Given the description of an element on the screen output the (x, y) to click on. 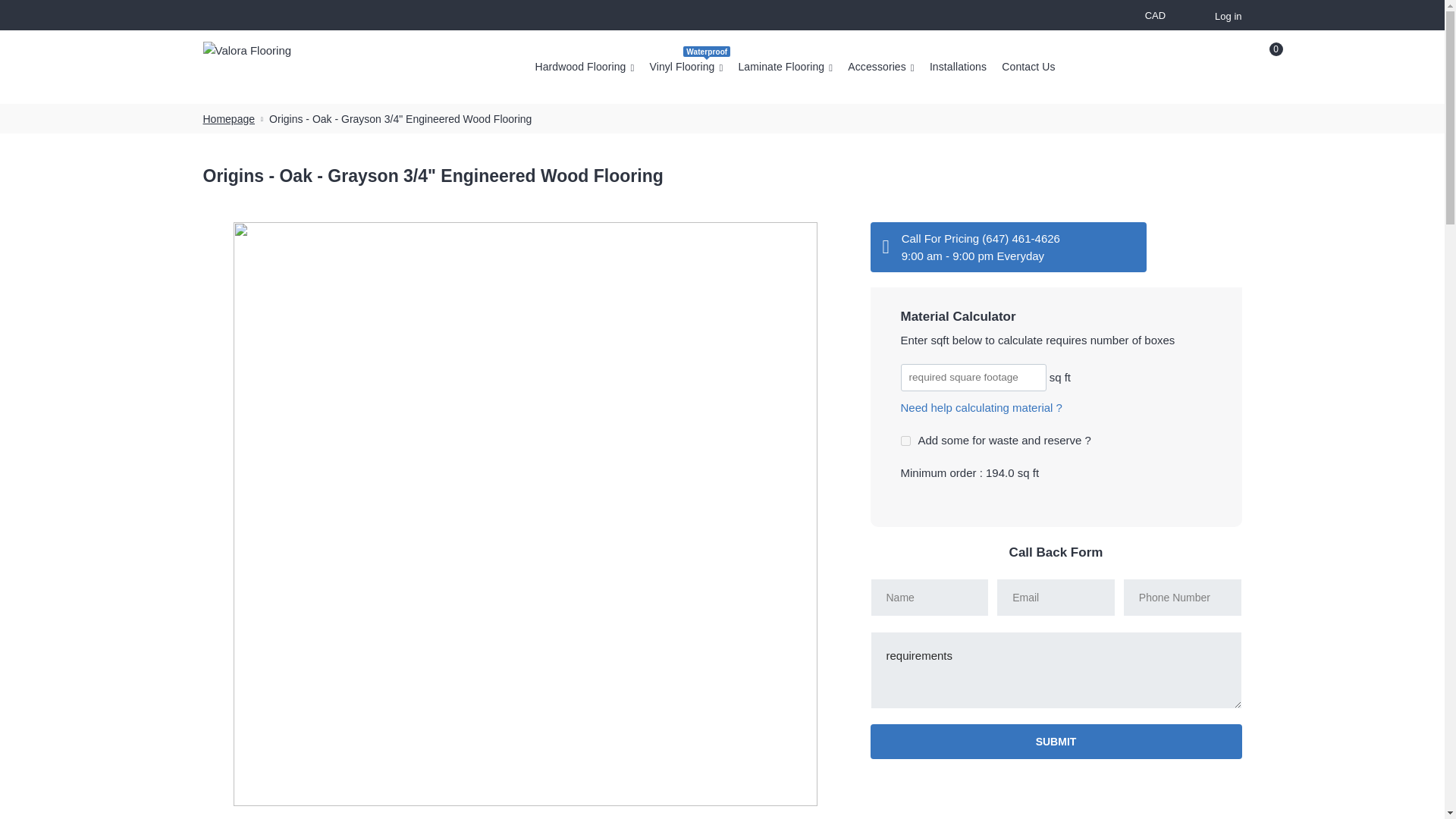
Log in (1225, 16)
Log in (1225, 16)
Homepage (229, 119)
Hardwood Flooring (584, 66)
CAD (1156, 16)
1 (906, 440)
